Given the description of an element on the screen output the (x, y) to click on. 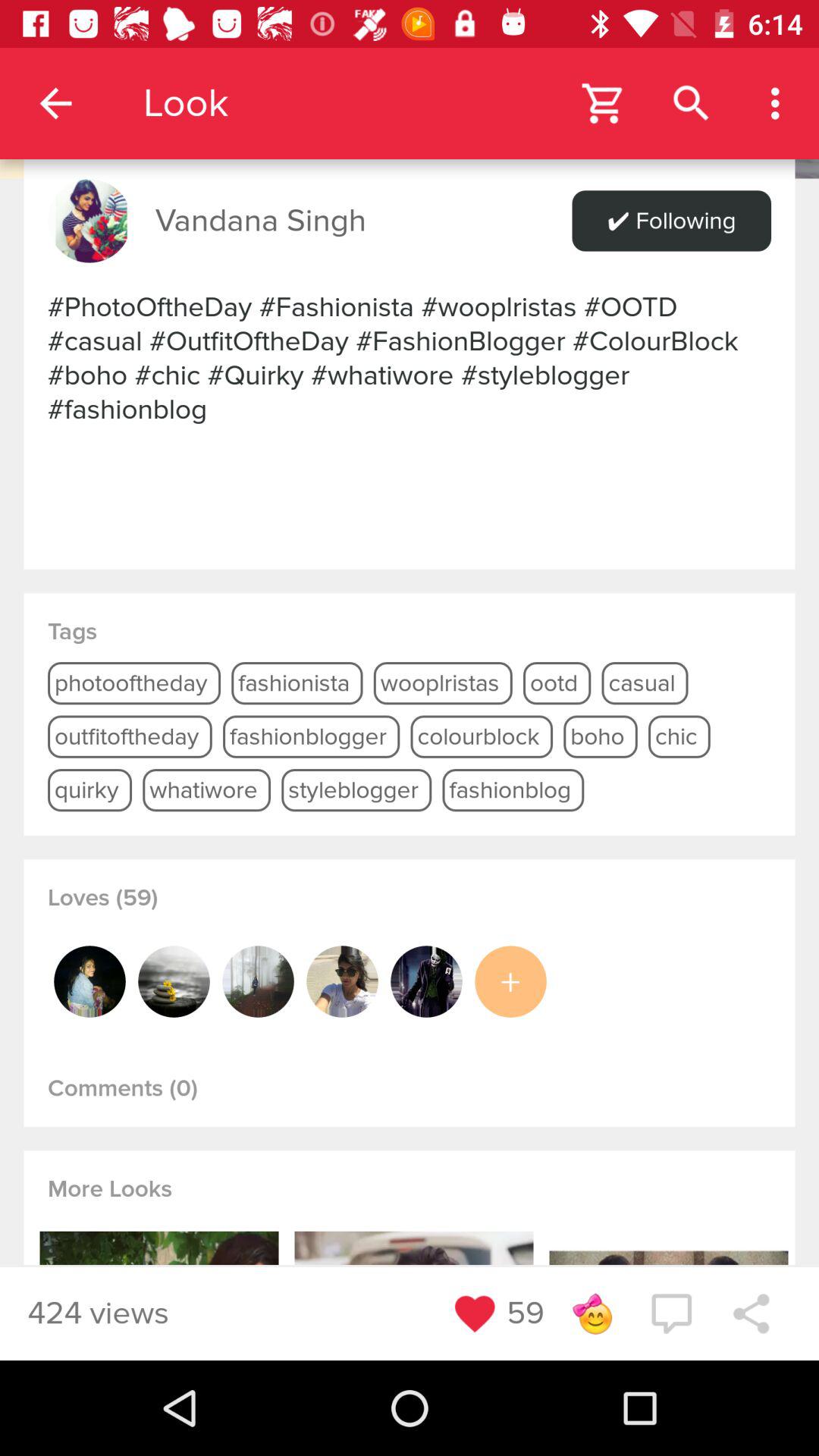
profile picture (426, 981)
